Given the description of an element on the screen output the (x, y) to click on. 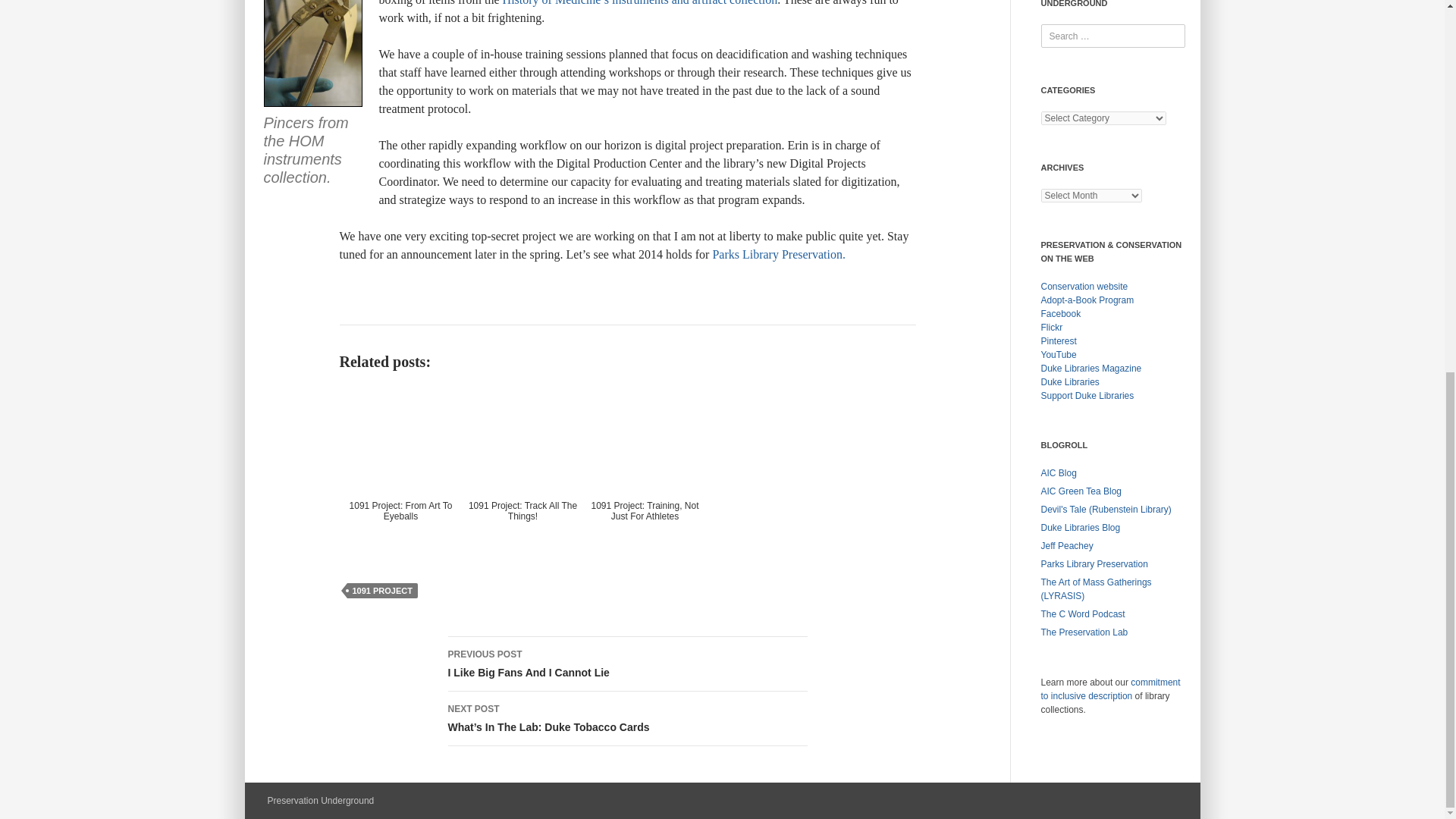
1091 PROJECT (382, 590)
The blog of the Duke University Rubenstein Library (1105, 509)
The blog of the American Institute for Conservation (1058, 472)
Parks Library Preservation (778, 254)
Adopt-a-Book Program (1087, 299)
HOM instruments and artifacts collection (639, 2)
Conservation website (626, 664)
Facebook (1083, 286)
